Given the description of an element on the screen output the (x, y) to click on. 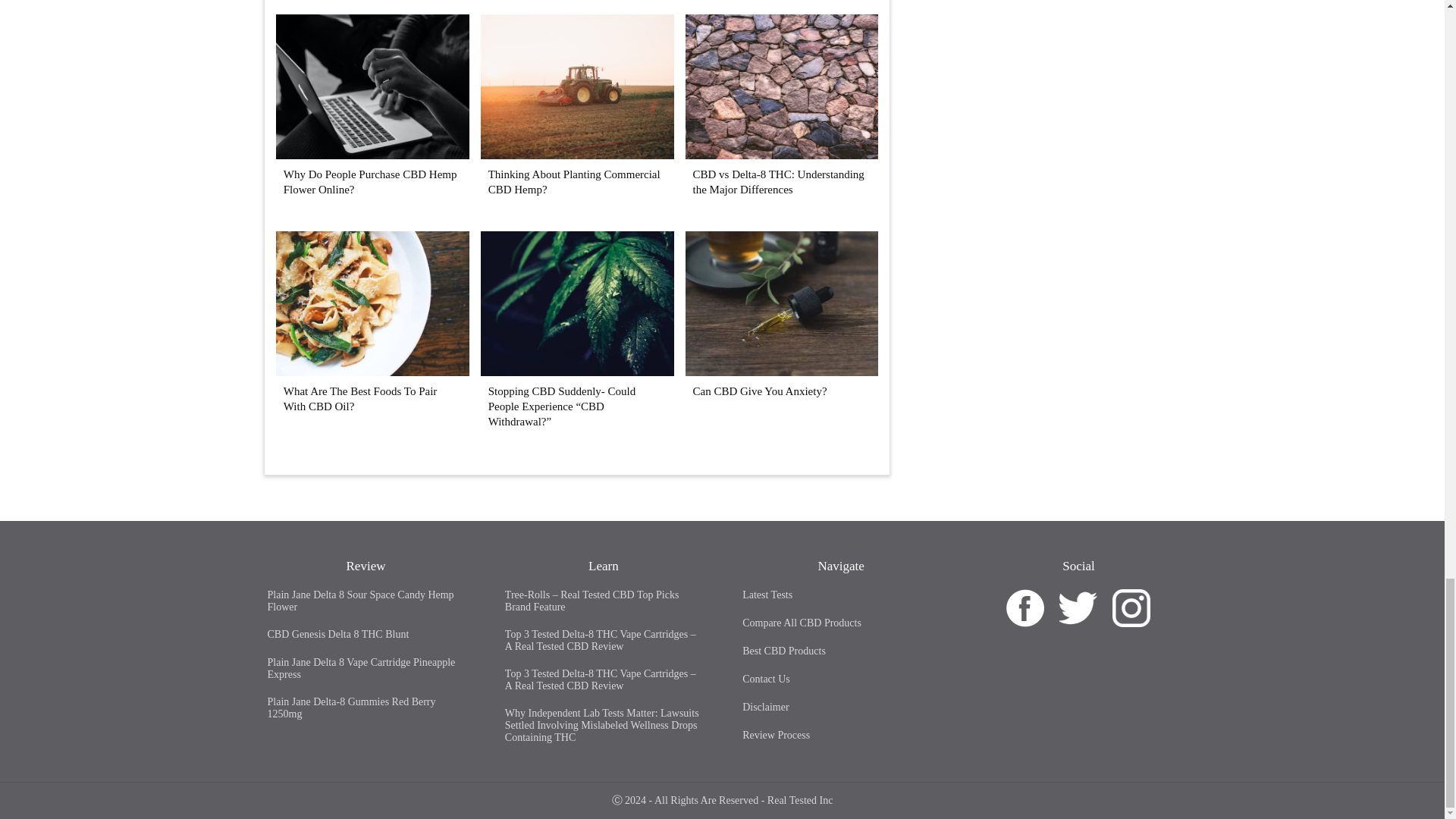
Why Do People Purchase CBD Hemp Flower Online? (372, 154)
Why Do People Purchase CBD Hemp Flower Online? (370, 181)
Thinking About Planting Commercial CBD Hemp? (574, 181)
Thinking About Planting Commercial CBD Hemp? (577, 154)
CBD vs Delta-8 THC: Understanding the Major Differences (782, 154)
Can CBD Give You Anxiety? (782, 371)
What Are The Best Foods To Pair With CBD Oil? (372, 371)
What Are The Best Foods To Pair With CBD Oil? (360, 398)
CBD vs Delta-8 THC: Understanding the Major Differences (778, 181)
Can CBD Give You Anxiety? (760, 390)
